Given the description of an element on the screen output the (x, y) to click on. 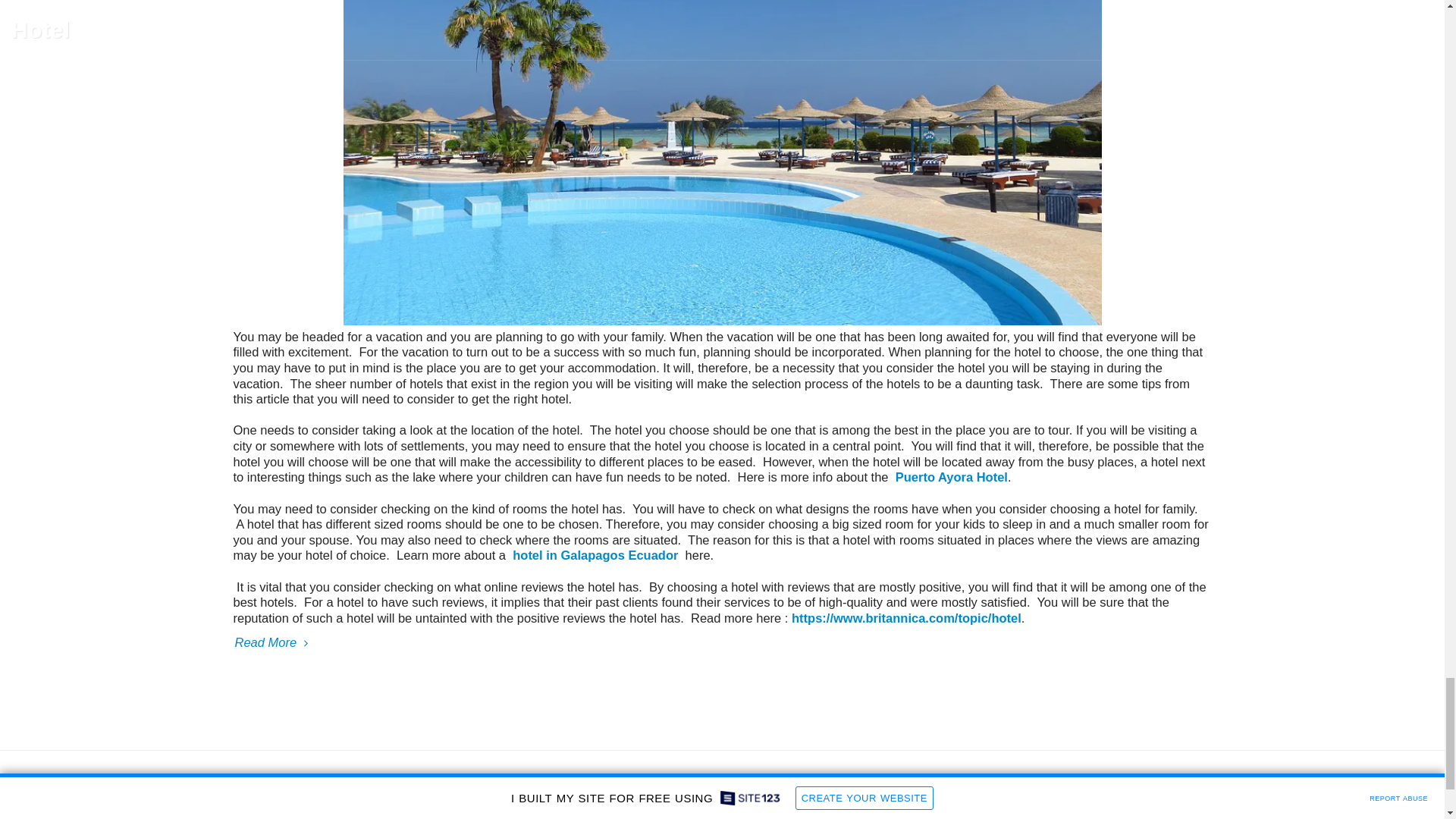
Articles (741, 816)
Home (699, 816)
  Puerto Ayora Hotel (947, 477)
hotel in Galapagos Ecuador  (596, 554)
